Given the description of an element on the screen output the (x, y) to click on. 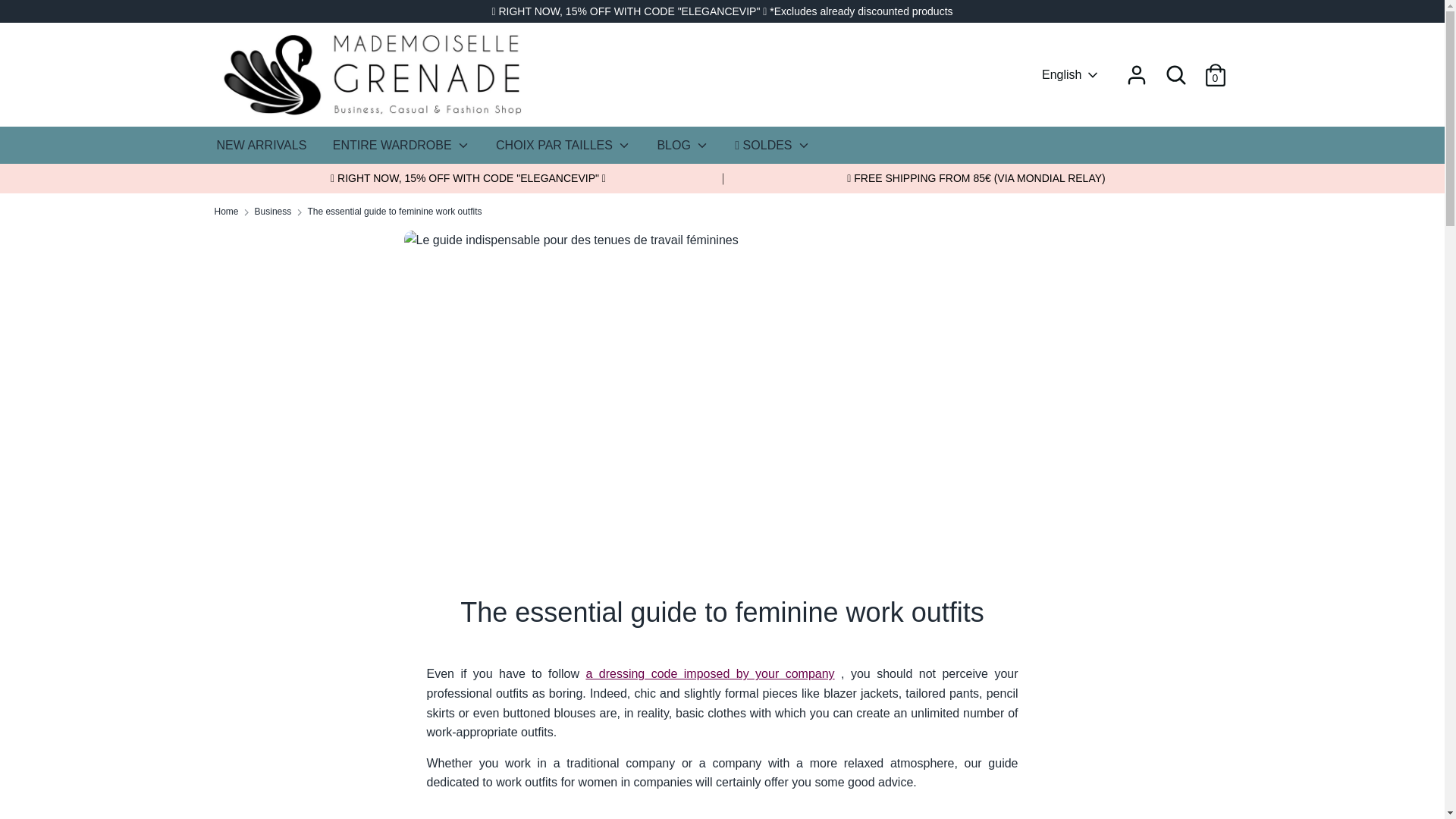
English (1070, 74)
0 (1214, 69)
Dress code: What is your company's dressing code? (709, 673)
Search (1175, 74)
